Given the description of an element on the screen output the (x, y) to click on. 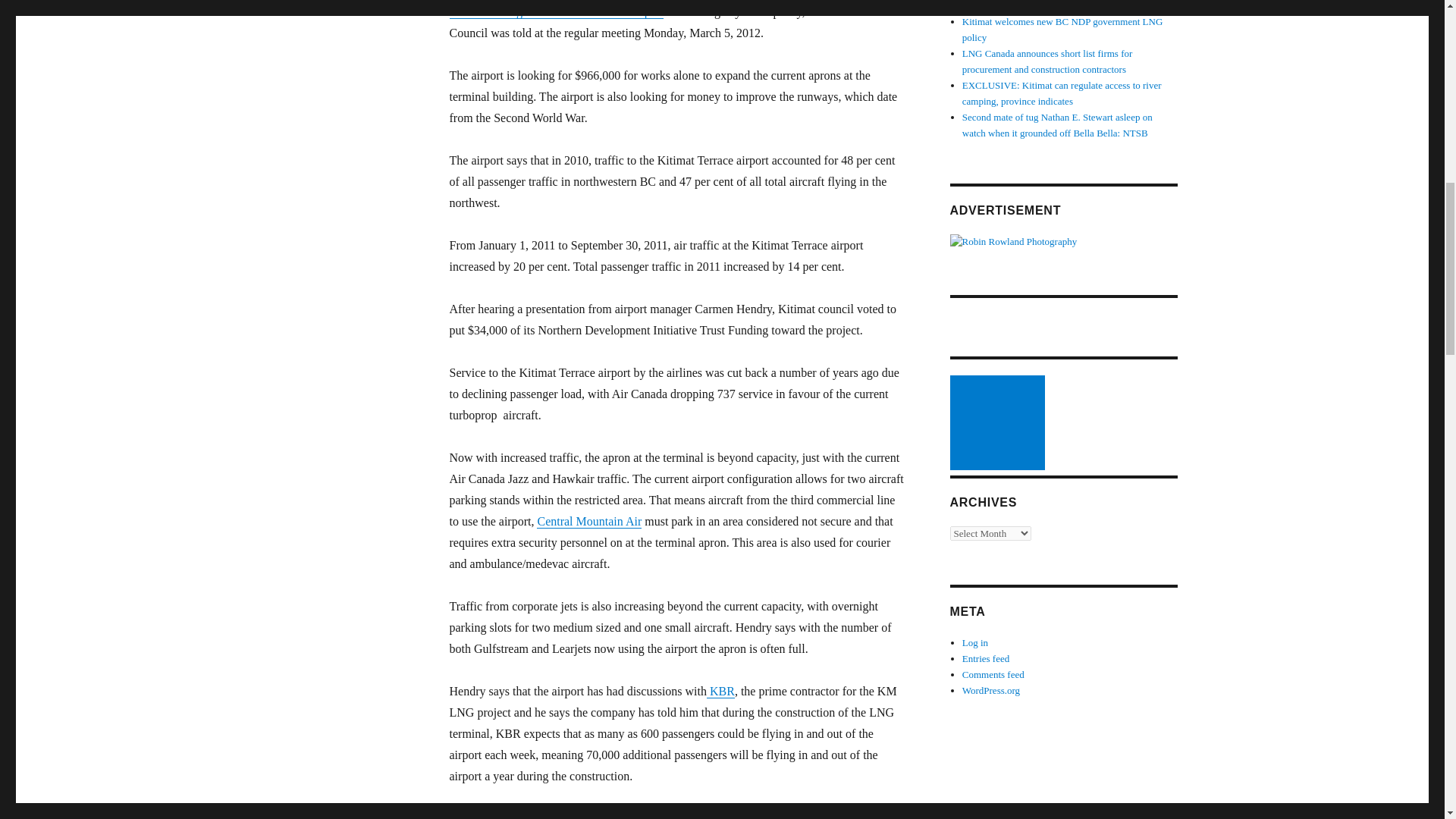
Central Mountain Air (589, 521)
KBR (720, 690)
Northwest Regional Kitimat Terrace Airport (555, 11)
